Given the description of an element on the screen output the (x, y) to click on. 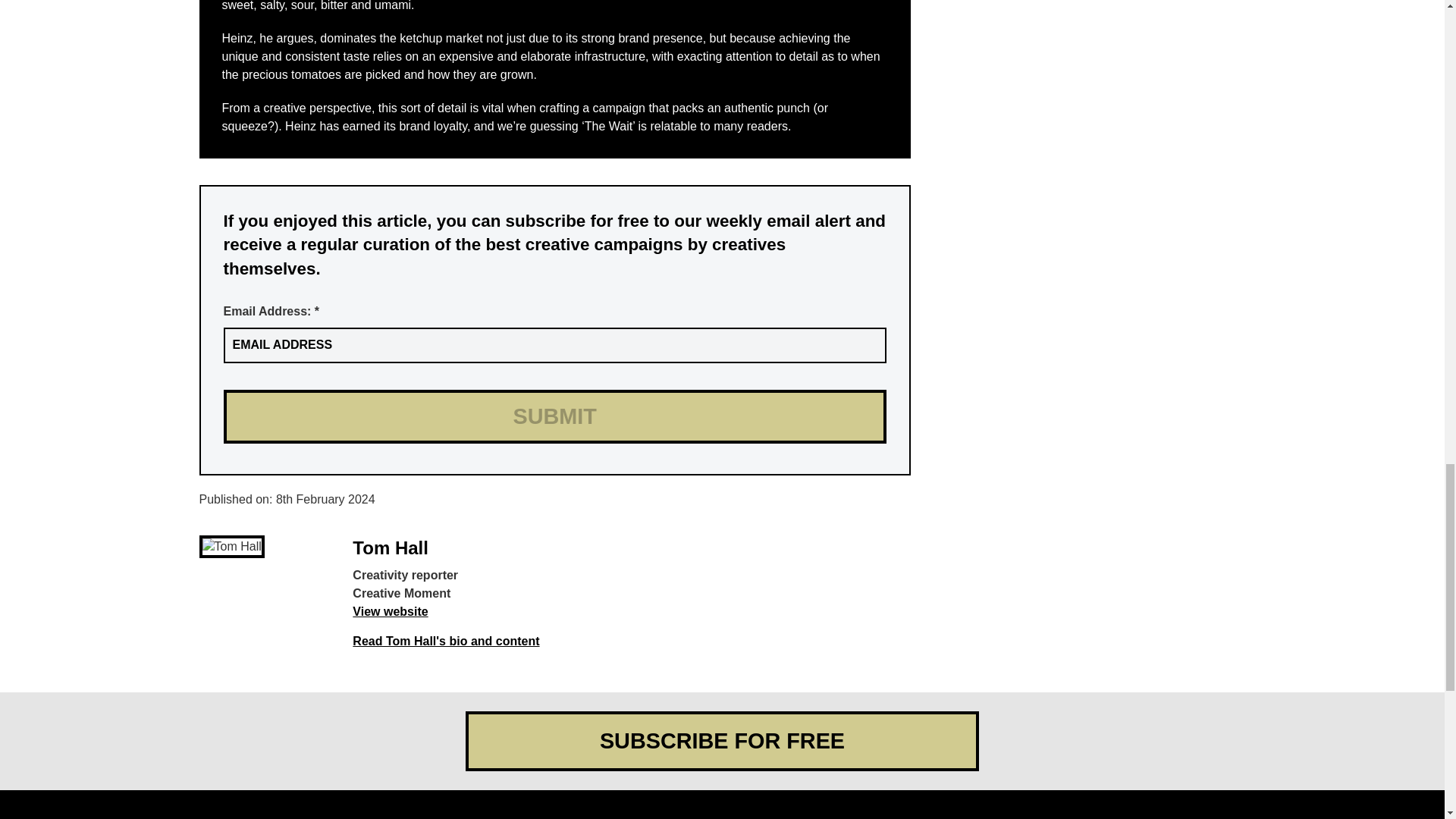
SUBMIT (553, 416)
View website (390, 611)
Read Tom Hall's bio and content (445, 640)
SUBMIT (553, 416)
SUBSCRIBE FOR FREE (721, 740)
